Given the description of an element on the screen output the (x, y) to click on. 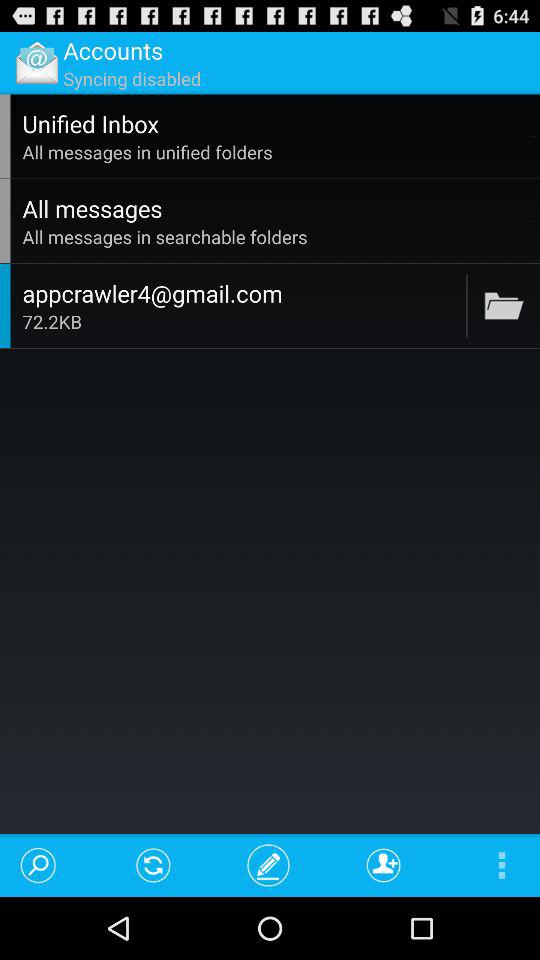
select the first icon from the image (36, 62)
select the icon at the bottom right corner (491, 865)
select the pencil symbol (268, 865)
